Given the description of an element on the screen output the (x, y) to click on. 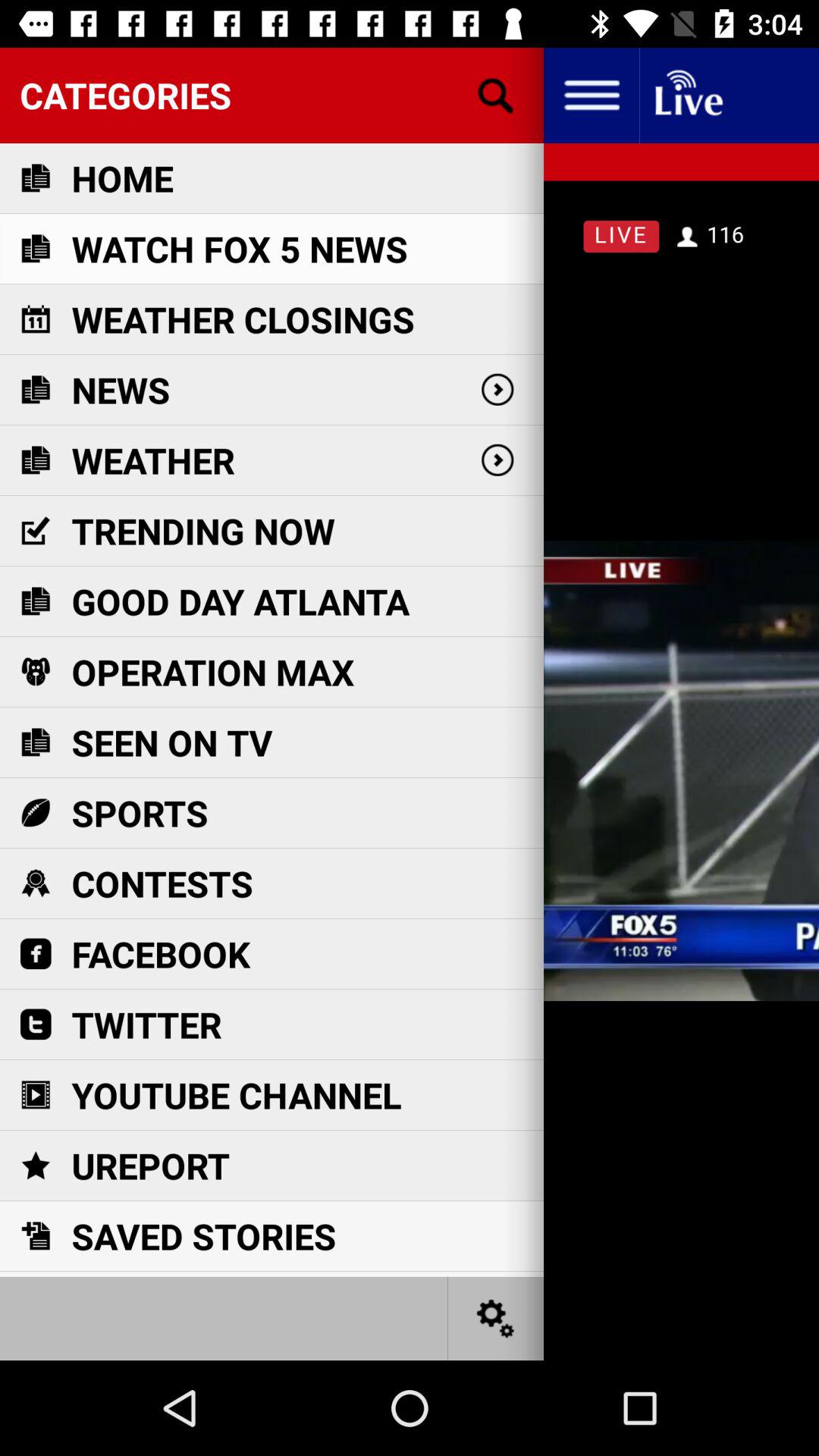
my profile option to be veiw (591, 95)
